Given the description of an element on the screen output the (x, y) to click on. 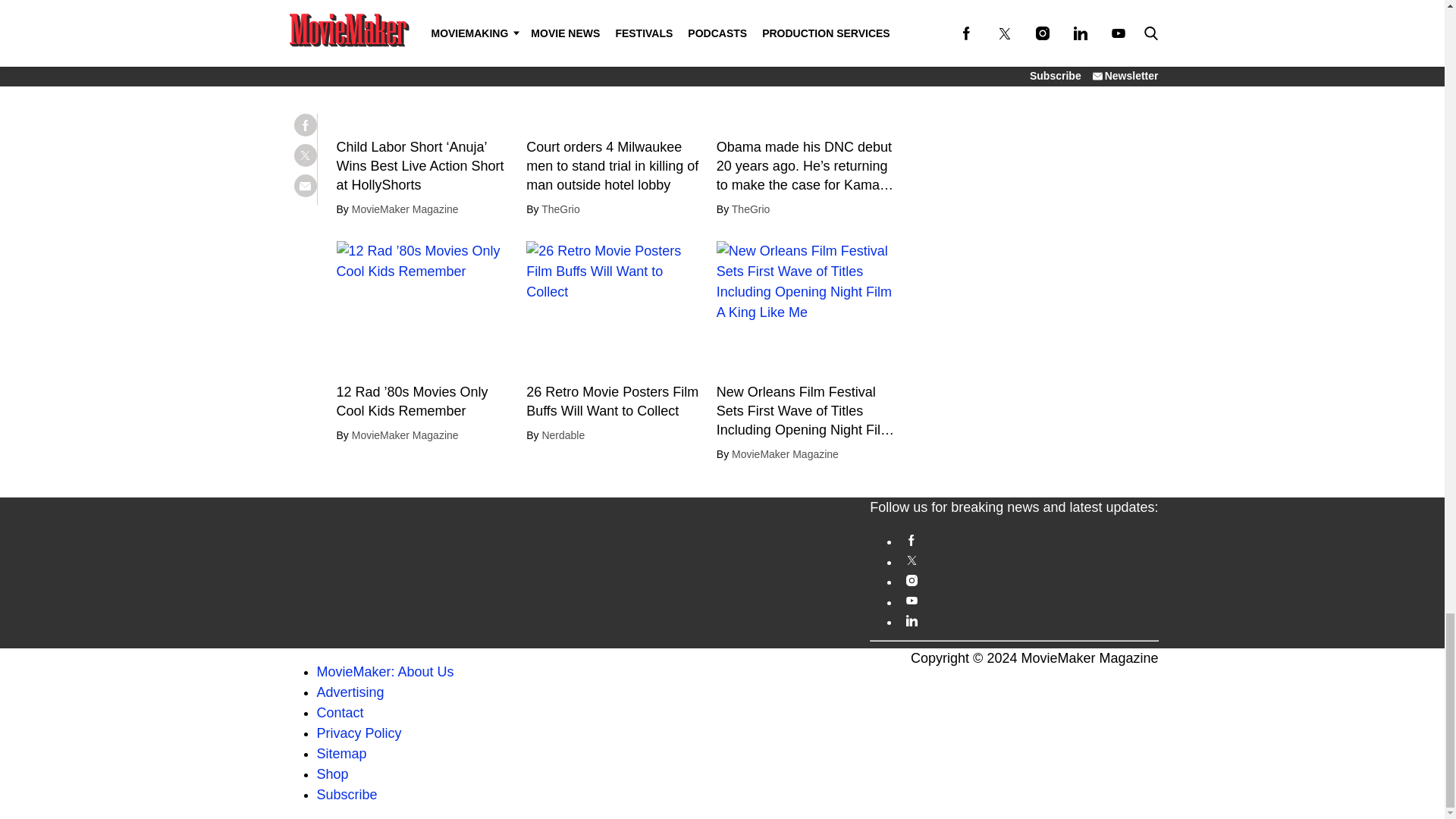
Connect with us on LinkedIn (1028, 620)
Follow us on Twitter (1028, 560)
MovieMaker Magazine Privacy Policy (359, 733)
Follow us on Facebook (1028, 540)
MovieMaker: About Us (385, 671)
MovieMaker Magazine Shop (333, 774)
Subscribe to our YouTube channel (1028, 600)
Contact MovieMaker Magazine (340, 712)
Follow us on Instagram (1028, 580)
Advertising (350, 692)
